Given the description of an element on the screen output the (x, y) to click on. 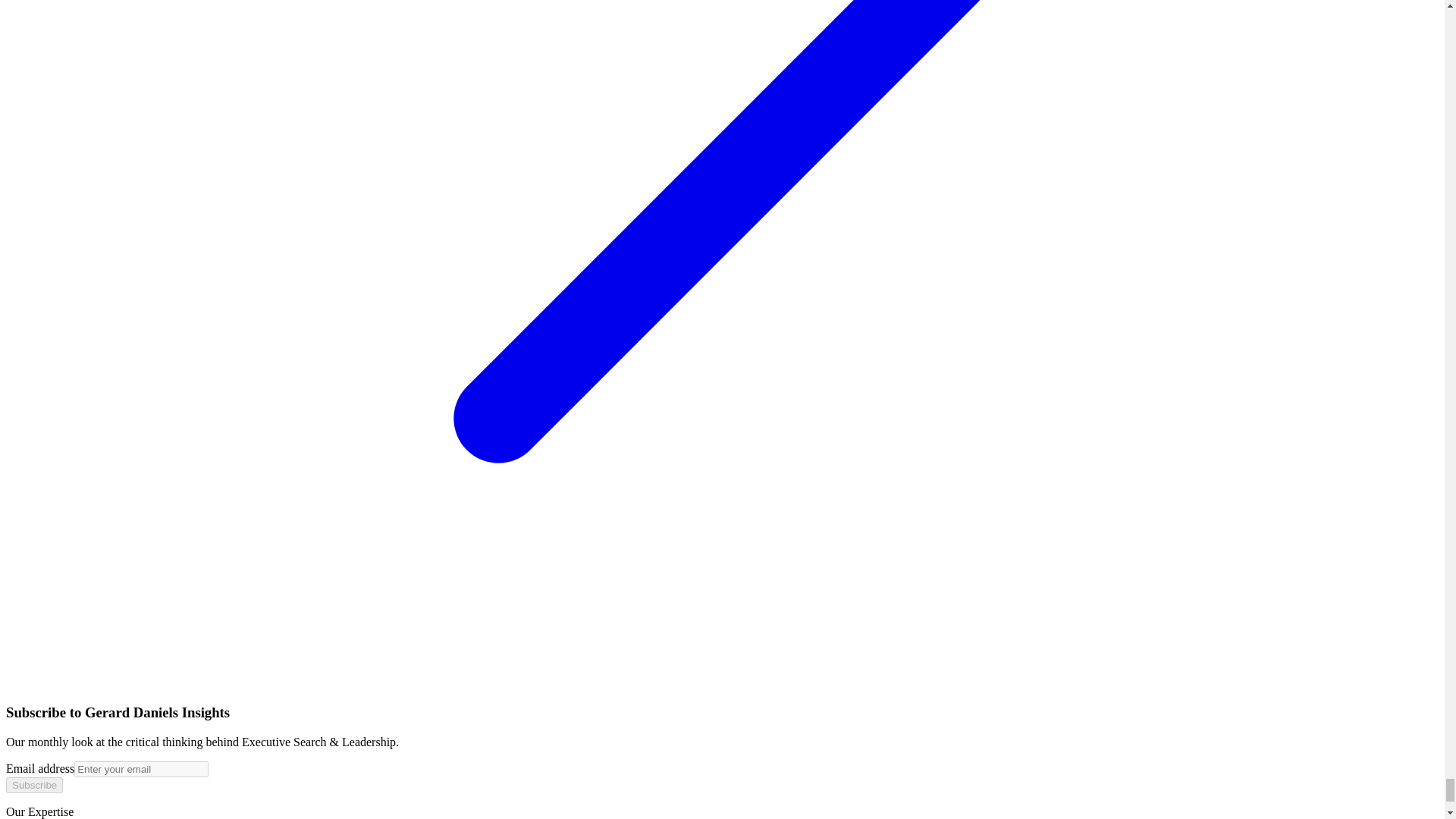
Subscribe (33, 785)
